Given the description of an element on the screen output the (x, y) to click on. 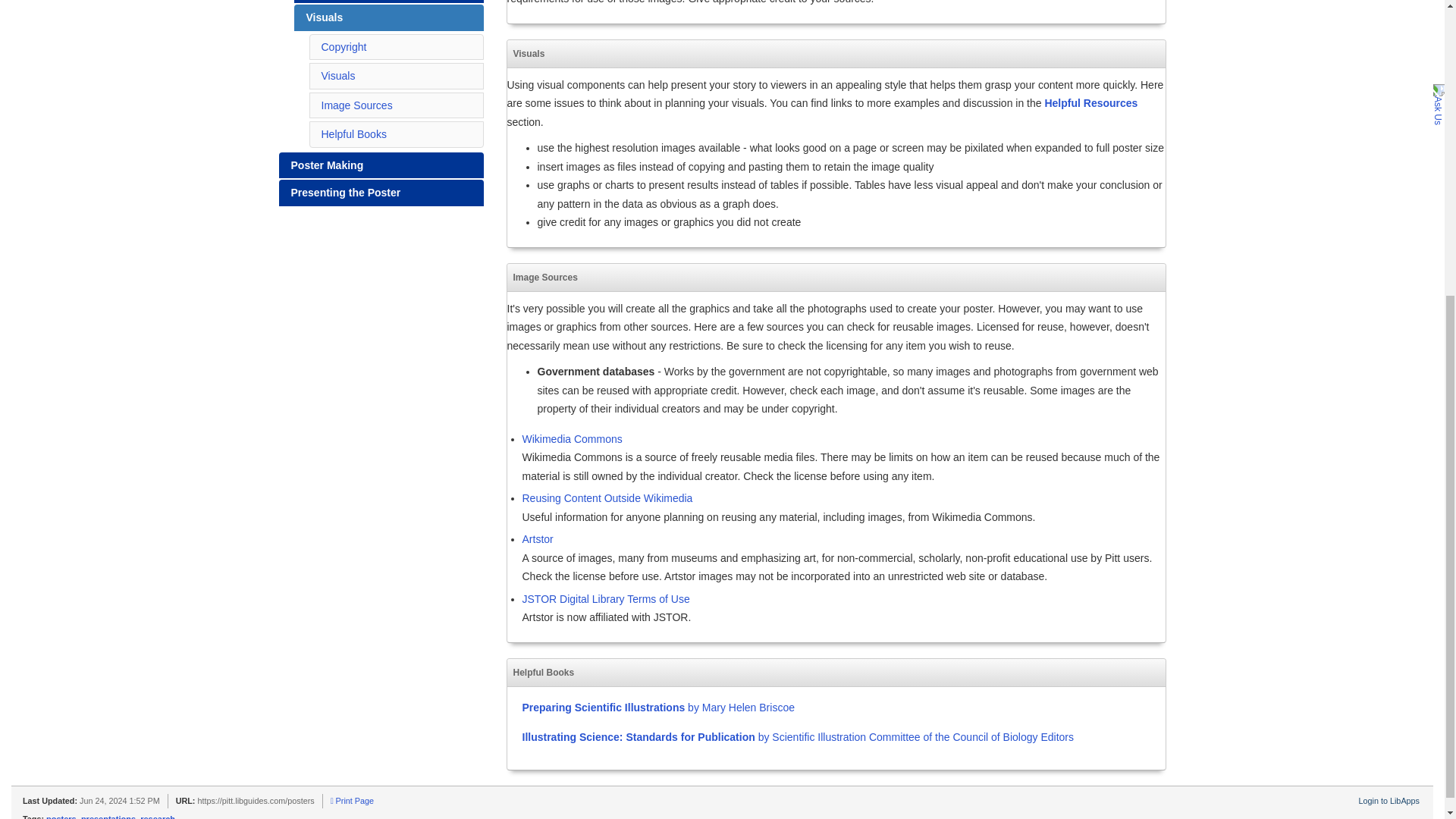
Preparing Scientific Illustrations by Mary Helen Briscoe (657, 707)
Presenting the Poster (381, 192)
Poster Making (381, 165)
Login to LibApps (1388, 800)
Visuals (388, 17)
Image Sources (357, 105)
Reusing Content Outside Wikimedia (607, 498)
Layout (388, 2)
Helpful Resources (1090, 102)
Visuals (338, 75)
